Given the description of an element on the screen output the (x, y) to click on. 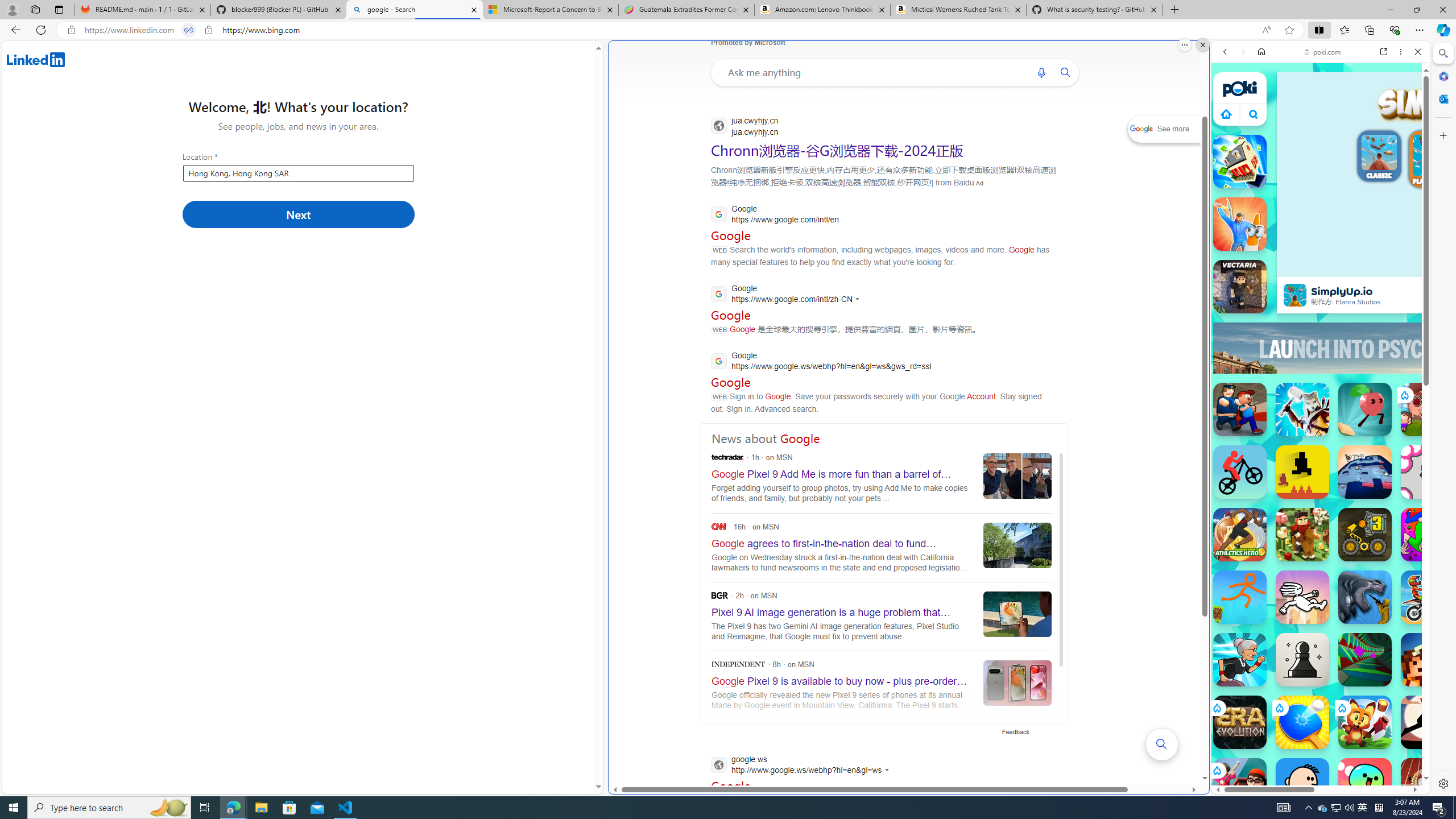
Stickman Parkour Skyland Stickman Parkour Skyland (1239, 597)
Narrow.One (1302, 409)
Narrow.One Narrow.One (1302, 409)
Vectaria.io Vectaria.io (1239, 286)
Stickman Bike (1239, 471)
Shooting Games (1320, 295)
Era: Evolution (1239, 722)
Show More Shooting Games (1390, 296)
Poki (1315, 754)
Apple Knight: Farmers Market (1302, 534)
